Given the description of an element on the screen output the (x, y) to click on. 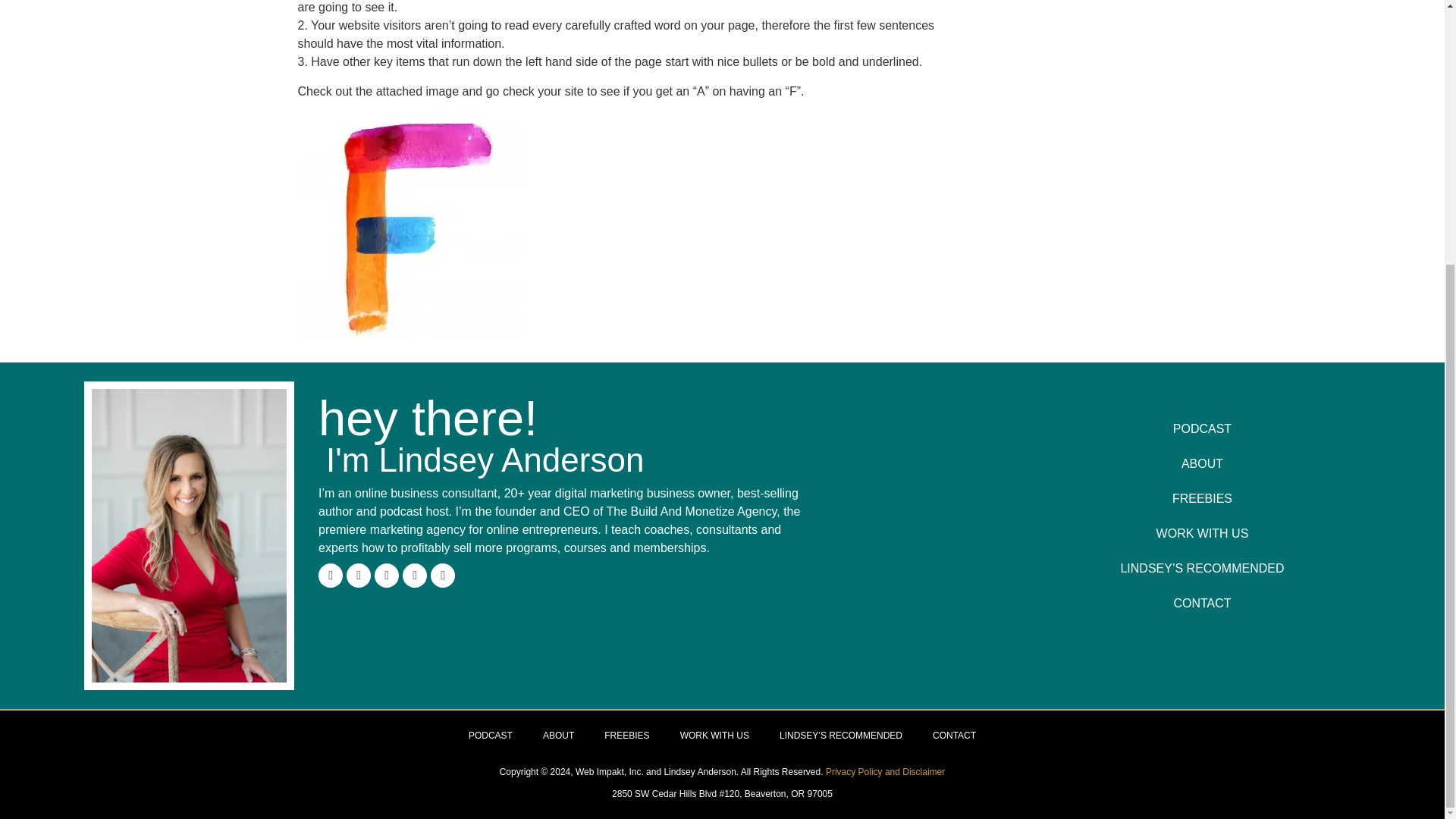
FREEBIES (1202, 498)
WORK WITH US (1202, 533)
PODCAST (1202, 428)
ABOUT (1202, 463)
